Given the description of an element on the screen output the (x, y) to click on. 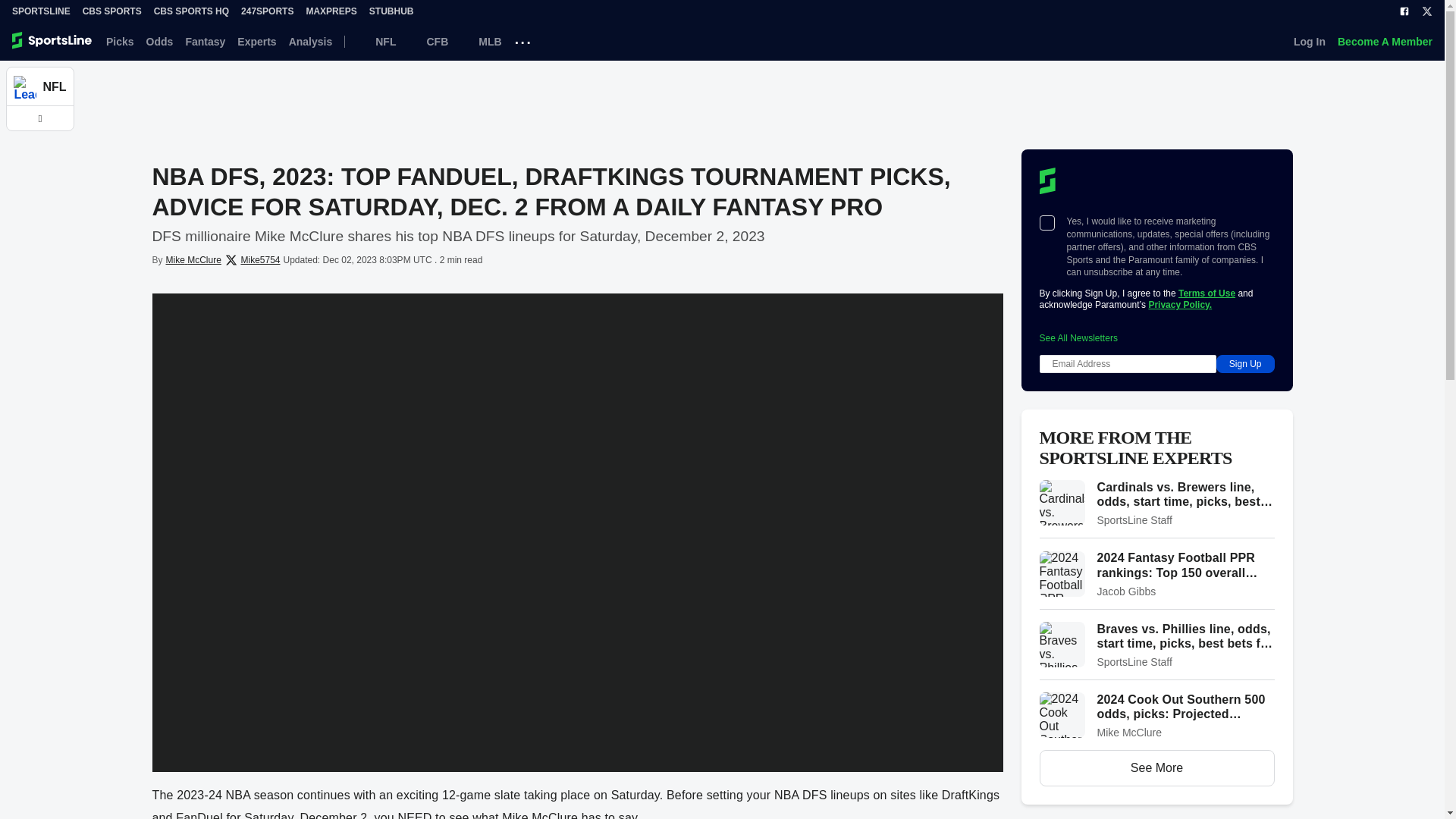
CBS SPORTS HQ (191, 11)
SPORTSLINE (40, 11)
STUBHUB (391, 11)
247Sports (267, 11)
CBS Sports HQ (191, 11)
StubHub (391, 11)
Analysis (310, 41)
Fantasy (204, 41)
247SPORTS (267, 11)
MaxPreps (330, 11)
